Given the description of an element on the screen output the (x, y) to click on. 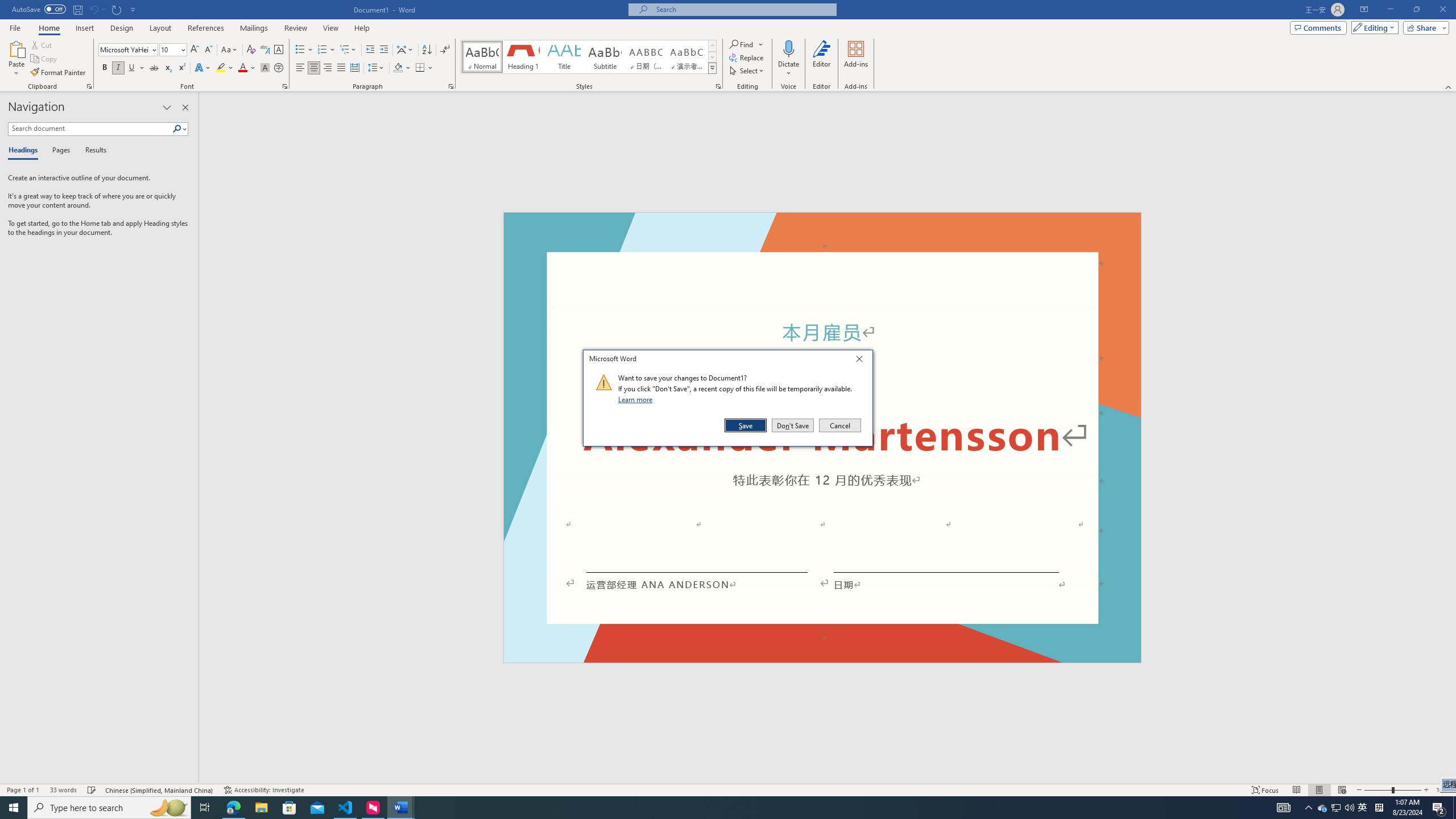
Spelling and Grammar Check Checking (91, 790)
AutomationID: 4105 (1283, 807)
Microsoft Edge - 1 running window (233, 807)
User Promoted Notification Area (1336, 807)
Microsoft Store (289, 807)
Learn more (636, 399)
